Given the description of an element on the screen output the (x, y) to click on. 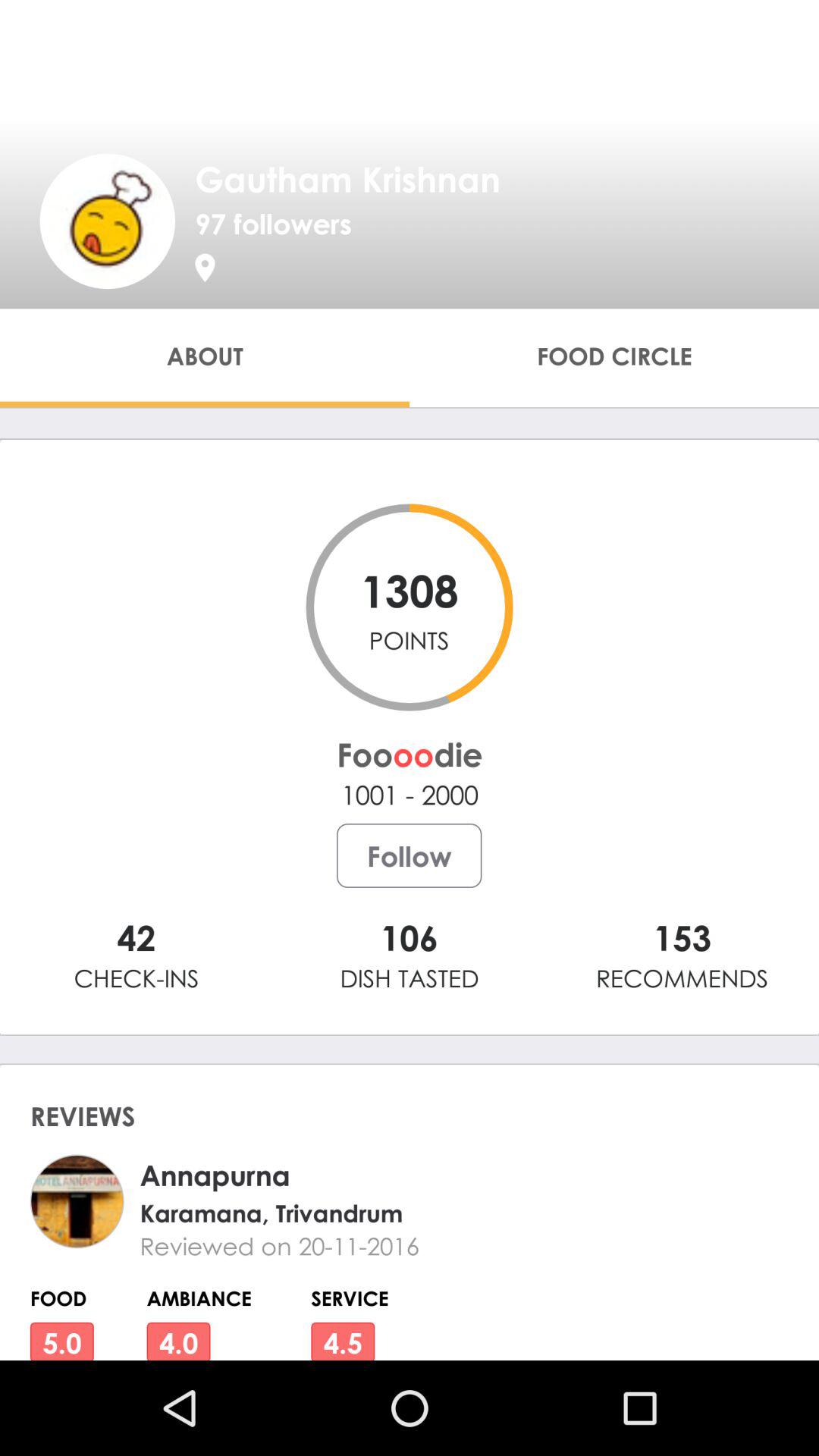
click on annapurna (435, 1174)
